Given the description of an element on the screen output the (x, y) to click on. 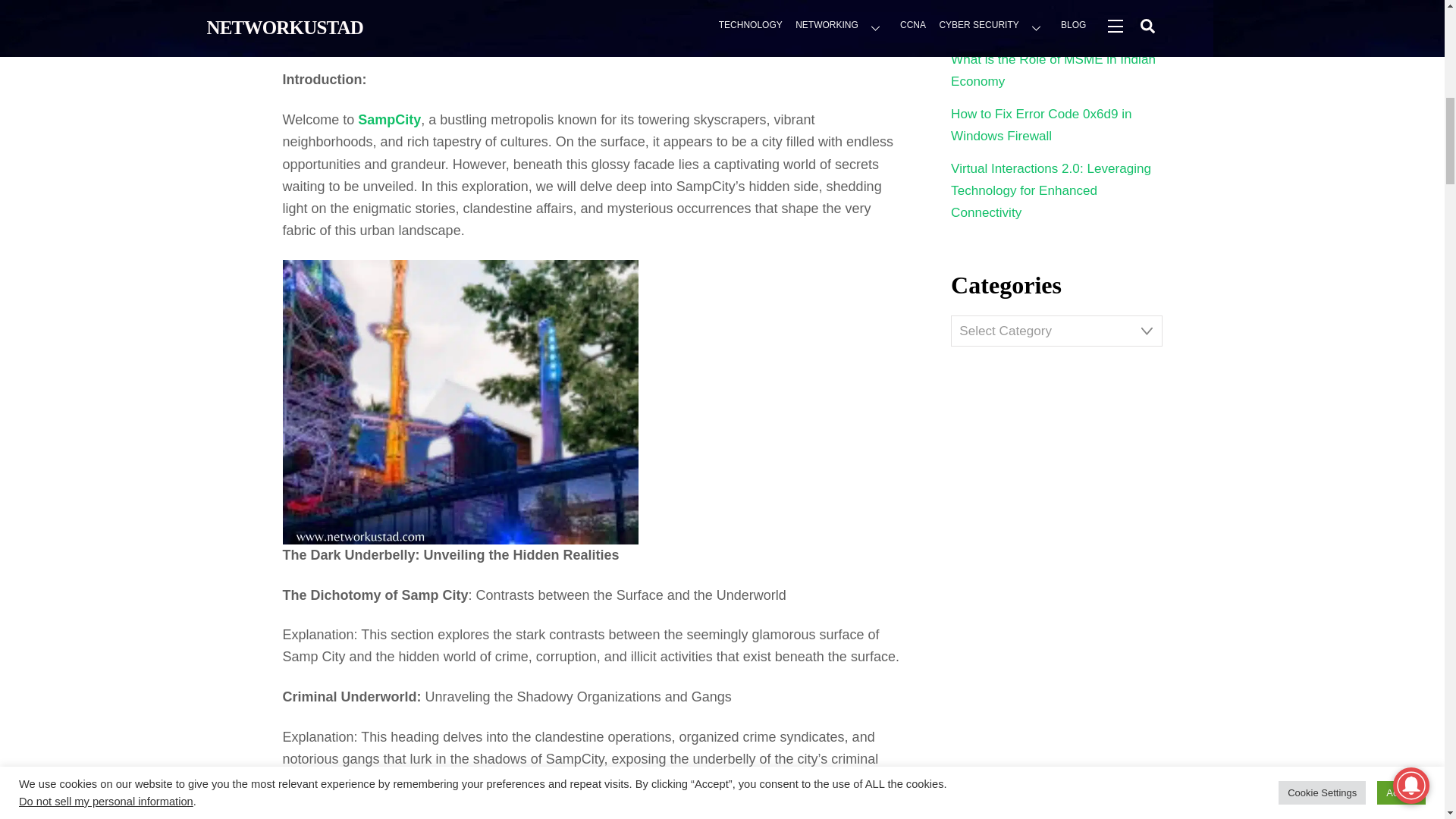
ATIF MUMTAZ (321, 46)
SampCity (389, 119)
History, Biography and Culture (465, 45)
wwwnetworkustadcom9 NetworkUstad (459, 402)
